Given the description of an element on the screen output the (x, y) to click on. 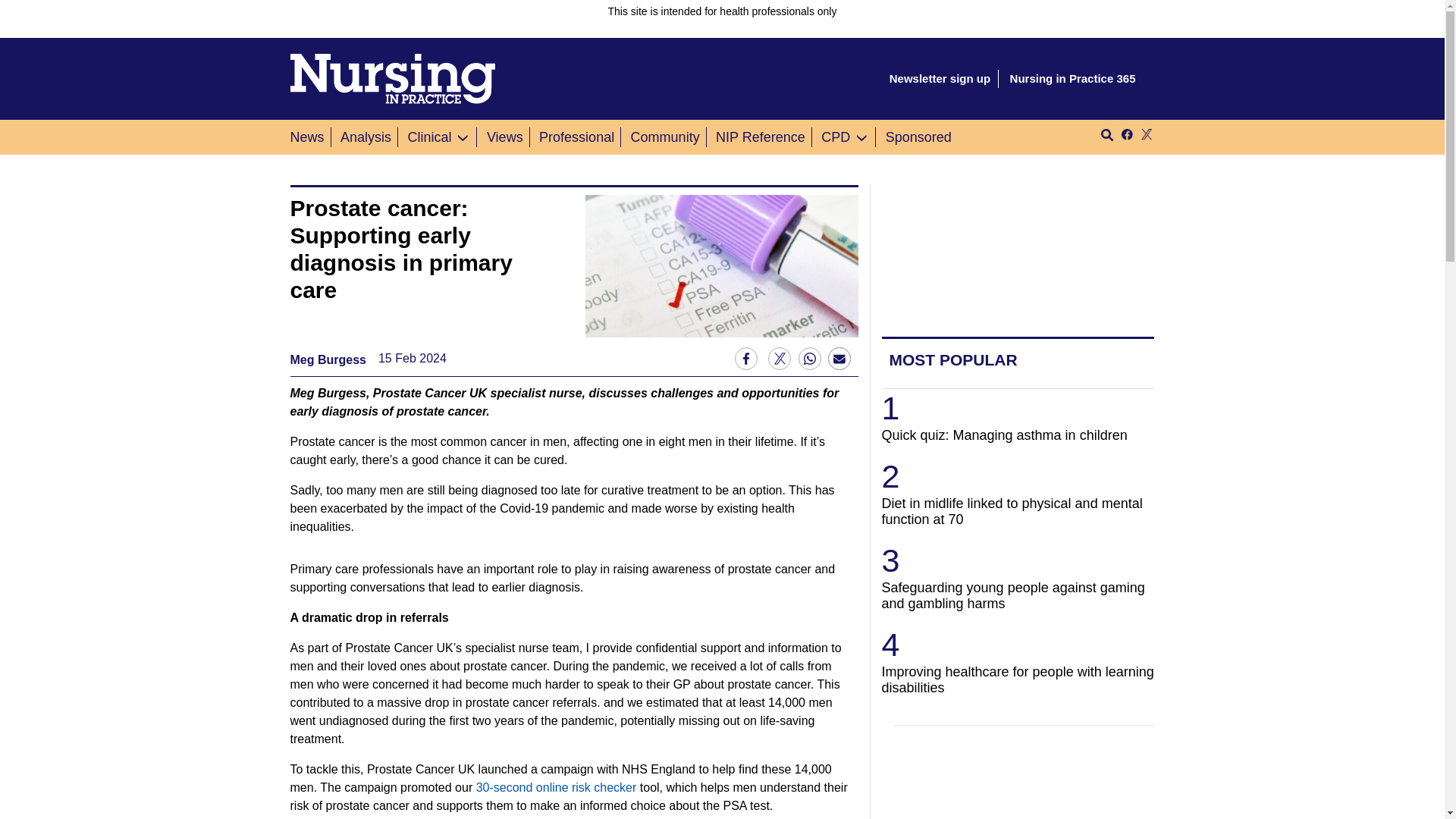
News (309, 136)
Analysis (365, 136)
Nursing in Practice 365 (1072, 78)
Newsletter sign up (939, 78)
